Given the description of an element on the screen output the (x, y) to click on. 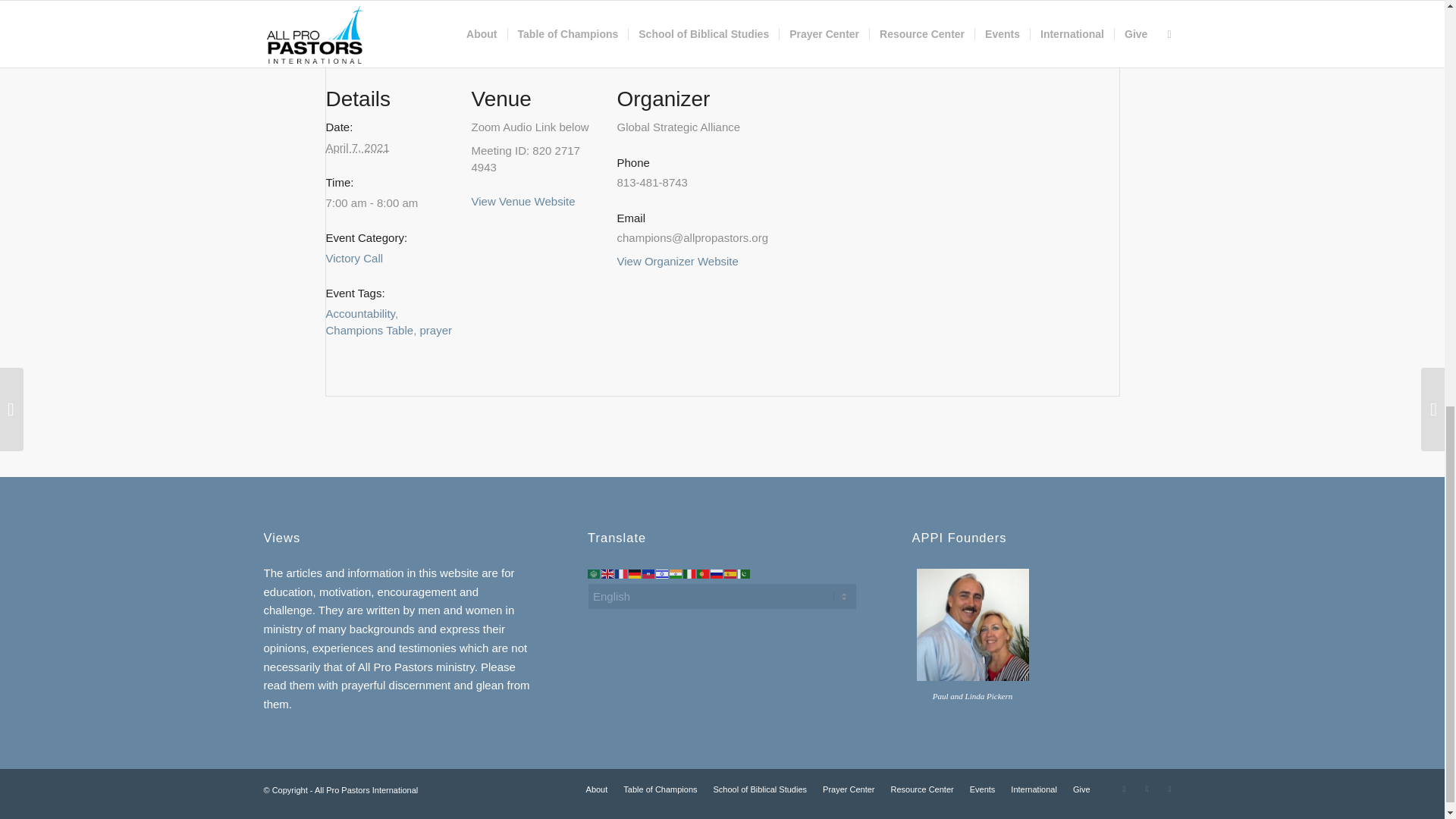
Italian (689, 572)
Haitian Creole (649, 572)
Hebrew (662, 572)
Portuguese (703, 572)
Arabic (594, 572)
2021-04-07 (358, 146)
Hindi (675, 572)
2021-04-07 (389, 203)
Russian (716, 572)
English (607, 572)
German (635, 572)
French (621, 572)
